Given the description of an element on the screen output the (x, y) to click on. 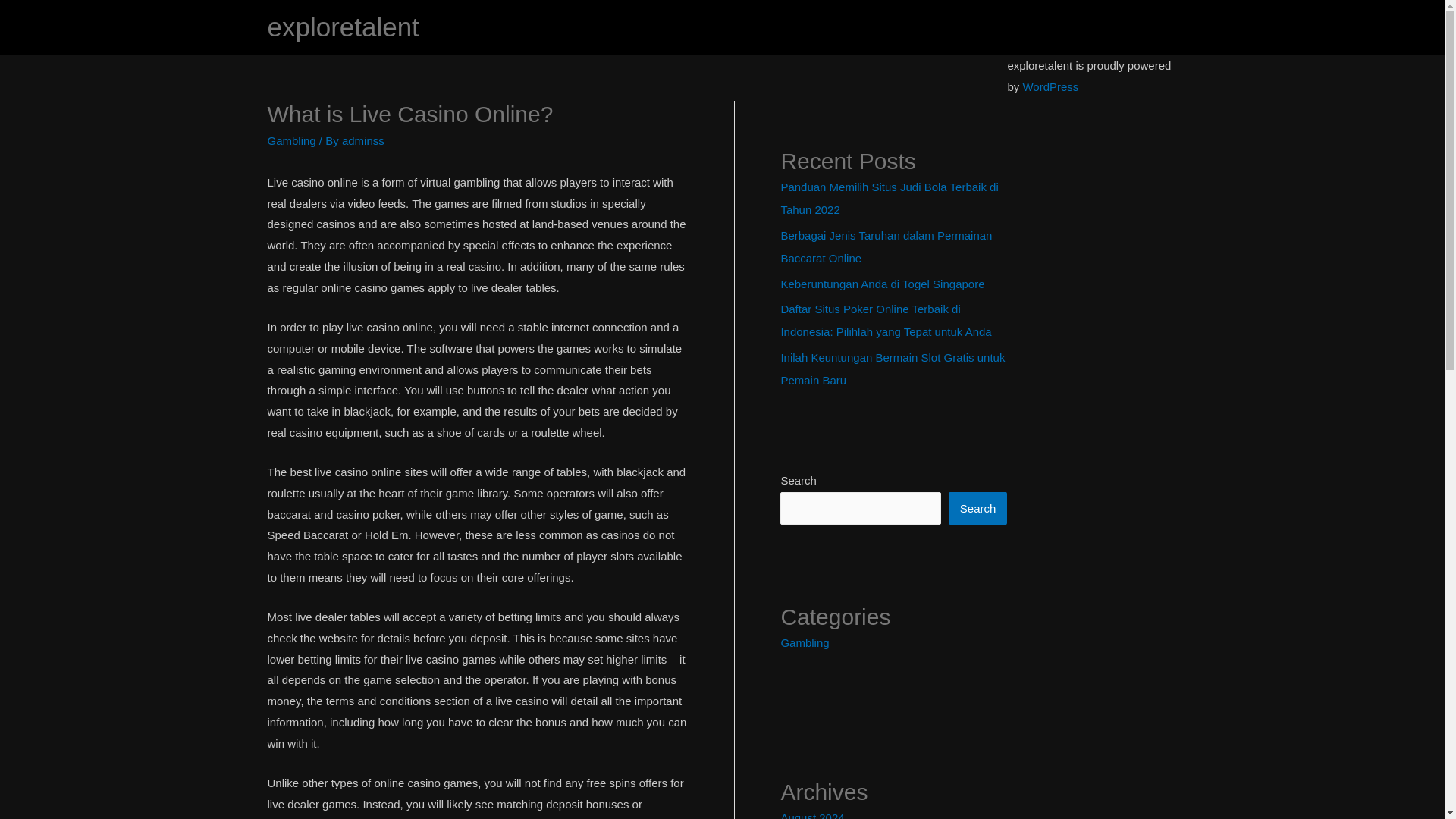
Panduan Memilih Situs Judi Bola Terbaik di Tahun 2022 (888, 198)
exploretalent (342, 26)
Berbagai Jenis Taruhan dalam Permainan Baccarat Online (885, 246)
Gambling (804, 642)
August 2024 (812, 815)
Search (978, 508)
Inilah Keuntungan Bermain Slot Gratis untuk Pemain Baru (892, 368)
adminss (363, 140)
View all posts by adminss (363, 140)
